Given the description of an element on the screen output the (x, y) to click on. 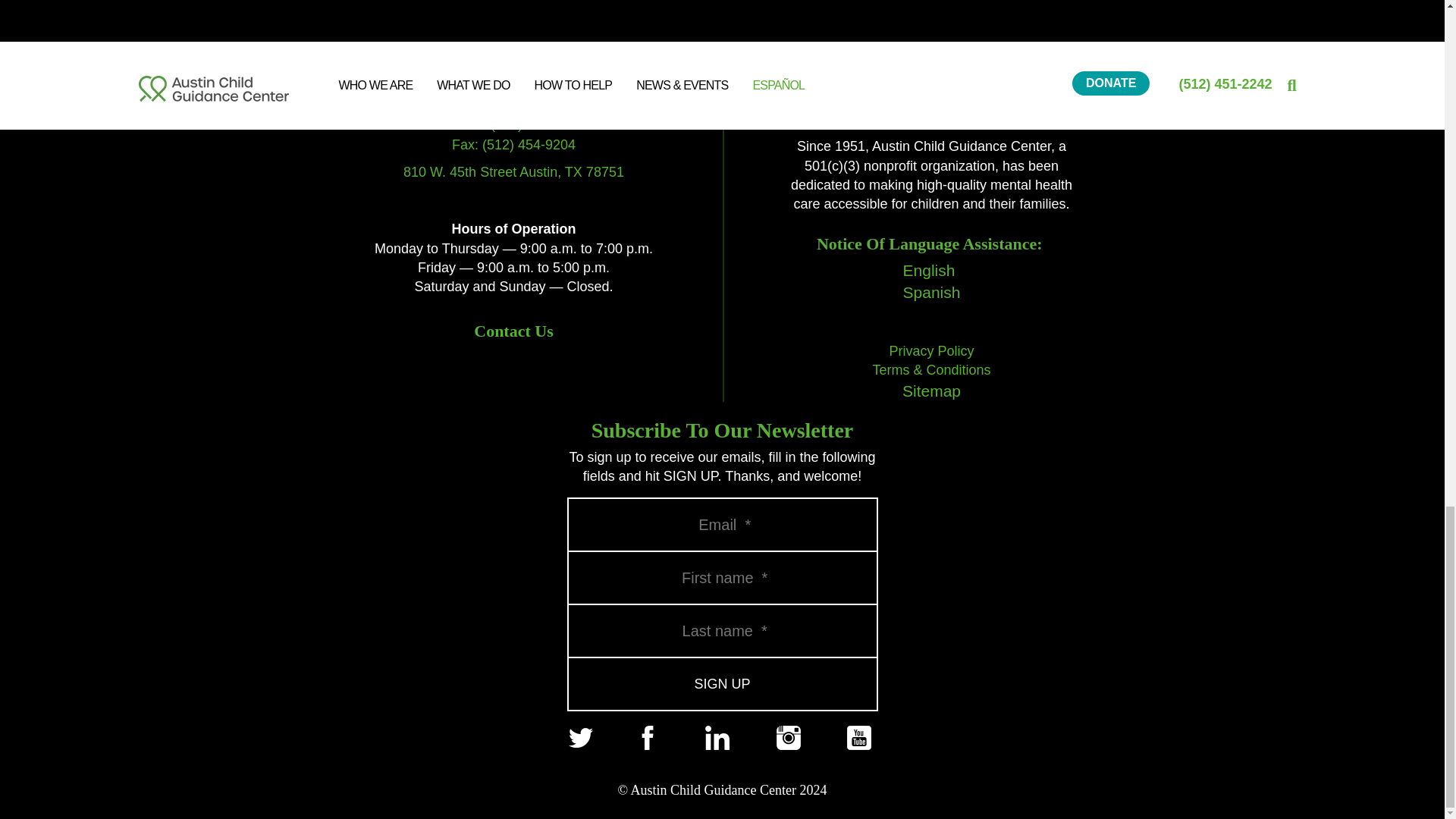
Sign Up (722, 684)
